Given the description of an element on the screen output the (x, y) to click on. 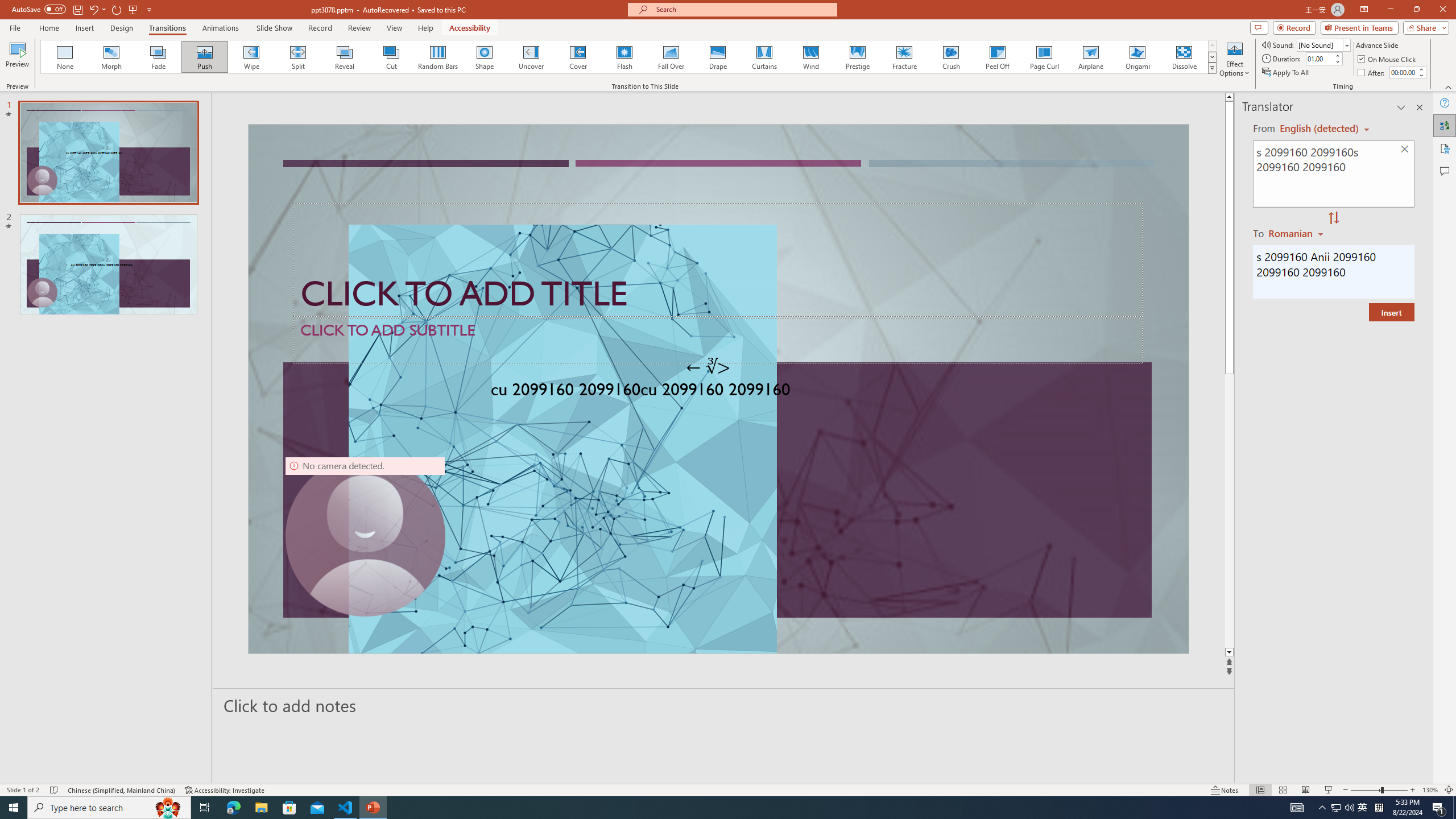
Crush (950, 56)
Reveal (344, 56)
Uncover (531, 56)
